Given the description of an element on the screen output the (x, y) to click on. 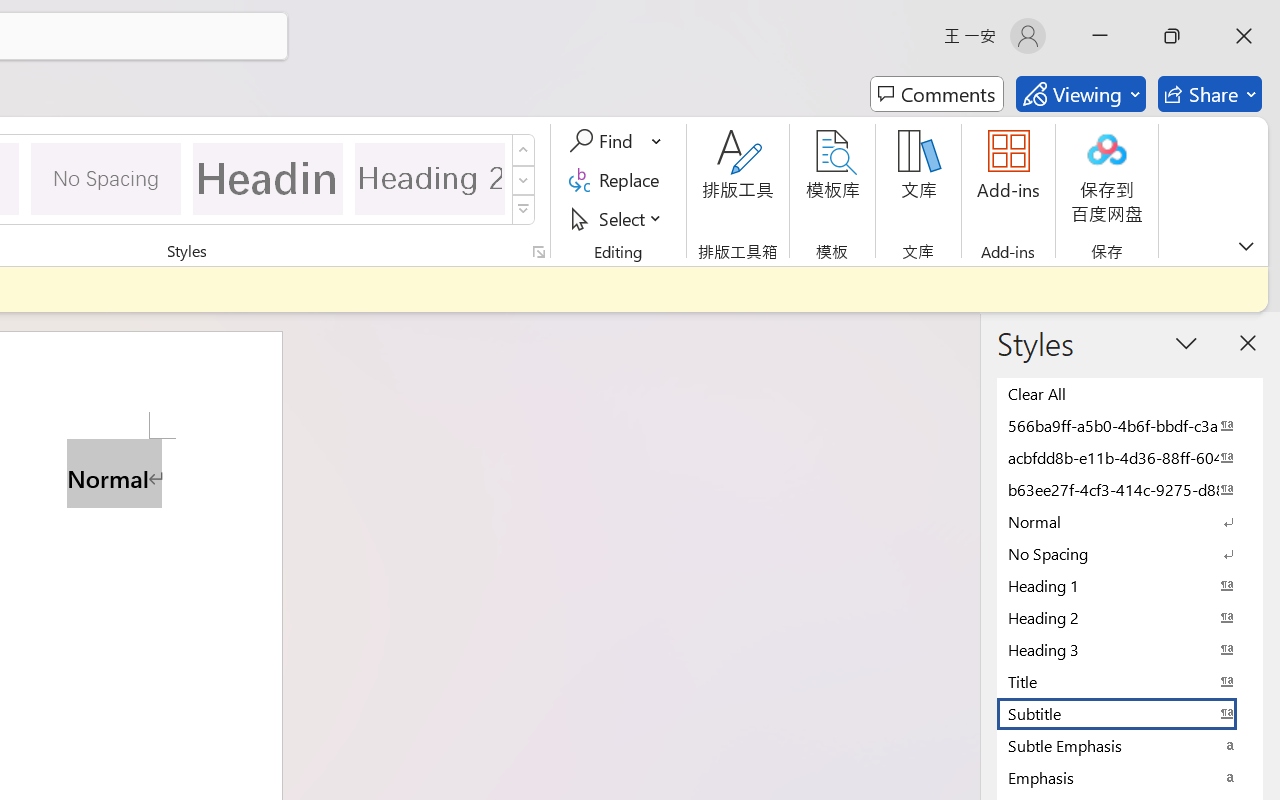
Replace... (617, 179)
Select (618, 218)
Row up (523, 150)
Styles... (538, 252)
Heading 2 (429, 178)
